Given the description of an element on the screen output the (x, y) to click on. 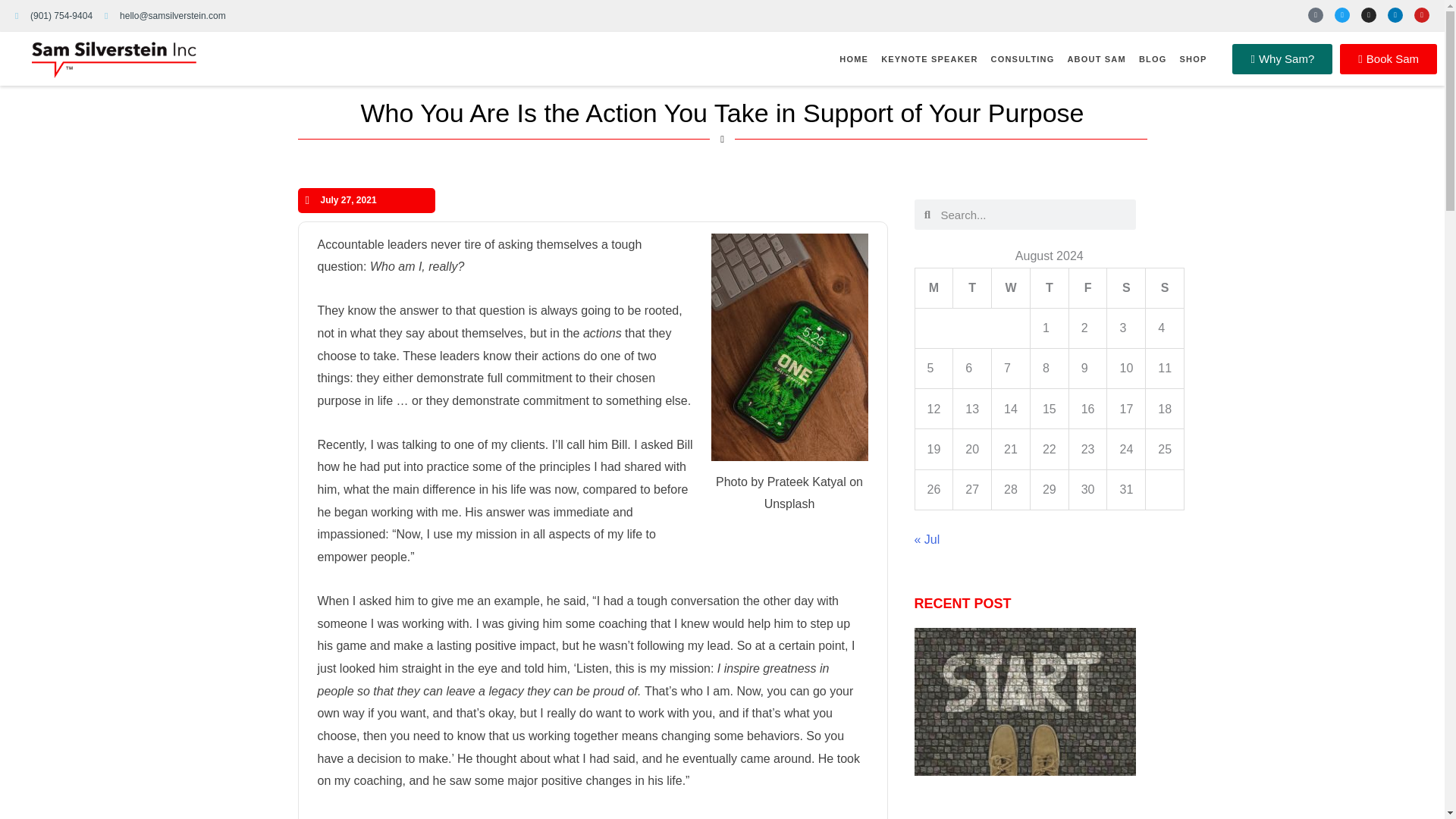
Sunday (1165, 288)
Friday (1088, 288)
KEYNOTE SPEAKER (928, 58)
ABOUT SAM (1096, 58)
SHOP (1192, 58)
Thursday (1049, 288)
Twitter (1342, 14)
CONSULTING (1023, 58)
Linkedin (1395, 14)
HOME (852, 58)
BLOG (1152, 58)
Youtube (1421, 14)
Saturday (1125, 288)
Facebook-square (1315, 14)
Tuesday (972, 288)
